Given the description of an element on the screen output the (x, y) to click on. 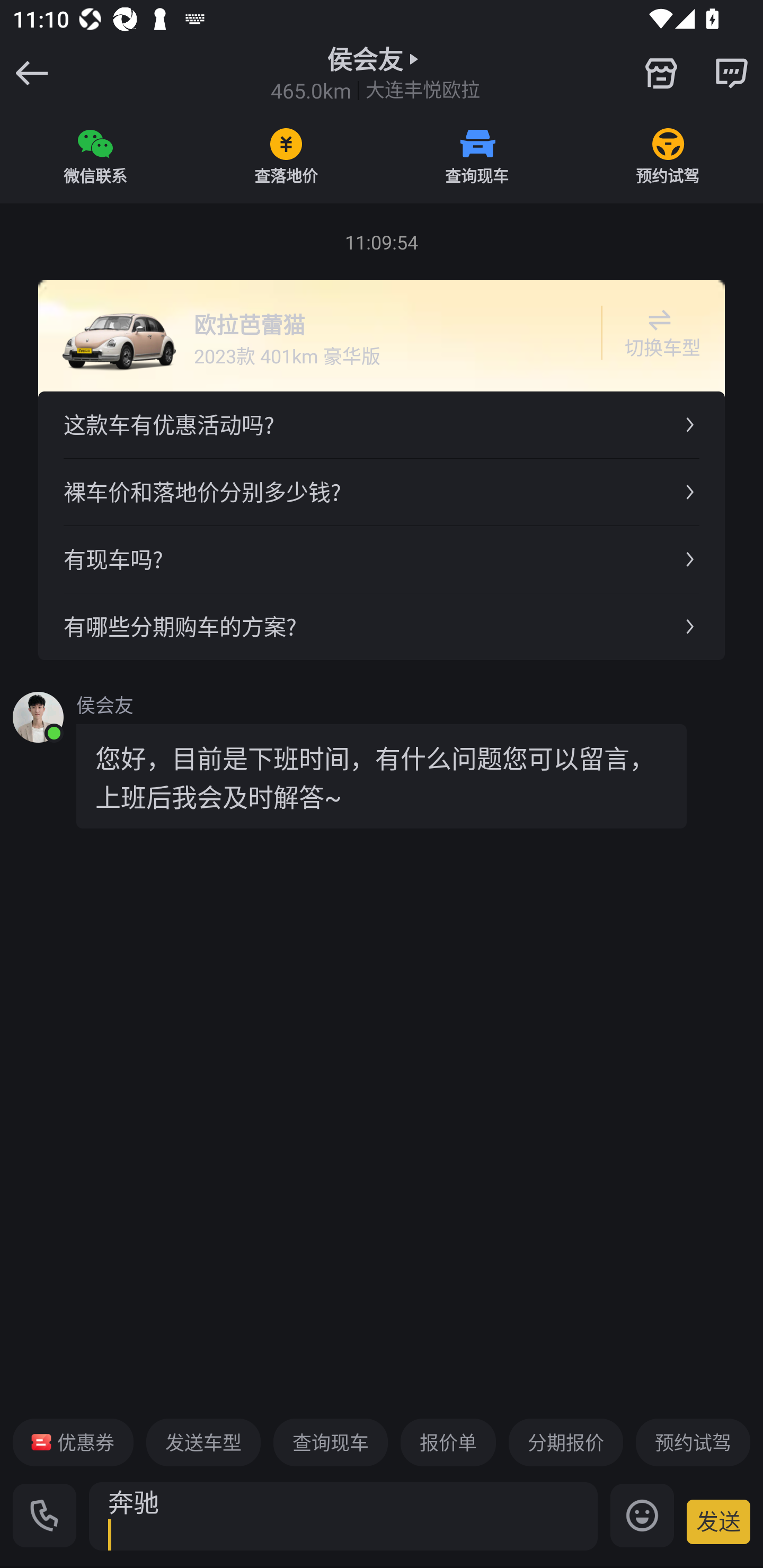
侯会友 465.0km 大连丰悦欧拉 (374, 73)
 (730, 72)
 (661, 73)
微信联系 (95, 155)
查落地价 (285, 155)
查询现车 (476, 155)
预约试驾 (667, 155)
切换车型 (659, 332)
这款车有优惠活动吗? (381, 424)
裸车价和落地价分别多少钱? (381, 492)
有现车吗? (381, 558)
有哪些分期购车的方案? (381, 626)
您好，目前是下班时间，有什么问题您可以留言，上班后我会及时解答~ (381, 775)
优惠券 (72, 1442)
发送车型 (203, 1442)
查询现车 (330, 1442)
报价单 (447, 1442)
分期报价 (565, 1442)
预约试驾 (692, 1442)
奔驰
 (343, 1515)
发送 (718, 1521)
